Given the description of an element on the screen output the (x, y) to click on. 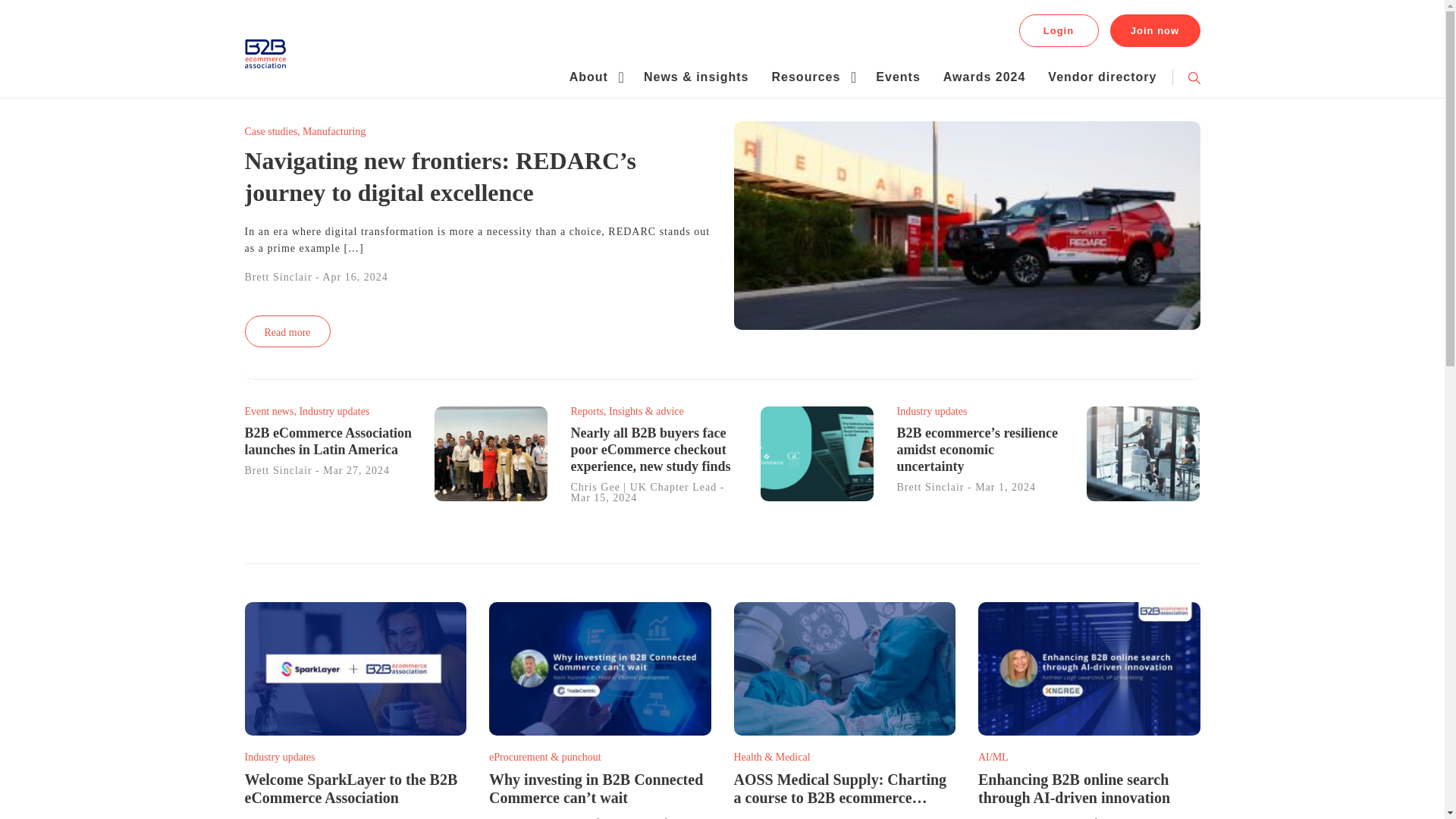
Resources (806, 76)
Enhancing B2B Online Search Through Ai-Driven Innovation 9 (1088, 668)
Vendor directory (1102, 76)
Join now (1154, 29)
B2B eCommerce Association launches in Latin America (328, 441)
B2B Ecommerce Association Launches In Latin America 2 (490, 453)
Events (898, 76)
About (588, 76)
Read more (287, 331)
Awards 2024 (984, 76)
Welcome Sparklayer To The B2B Ecommerce Association 5 (354, 668)
Login (1059, 29)
